Given the description of an element on the screen output the (x, y) to click on. 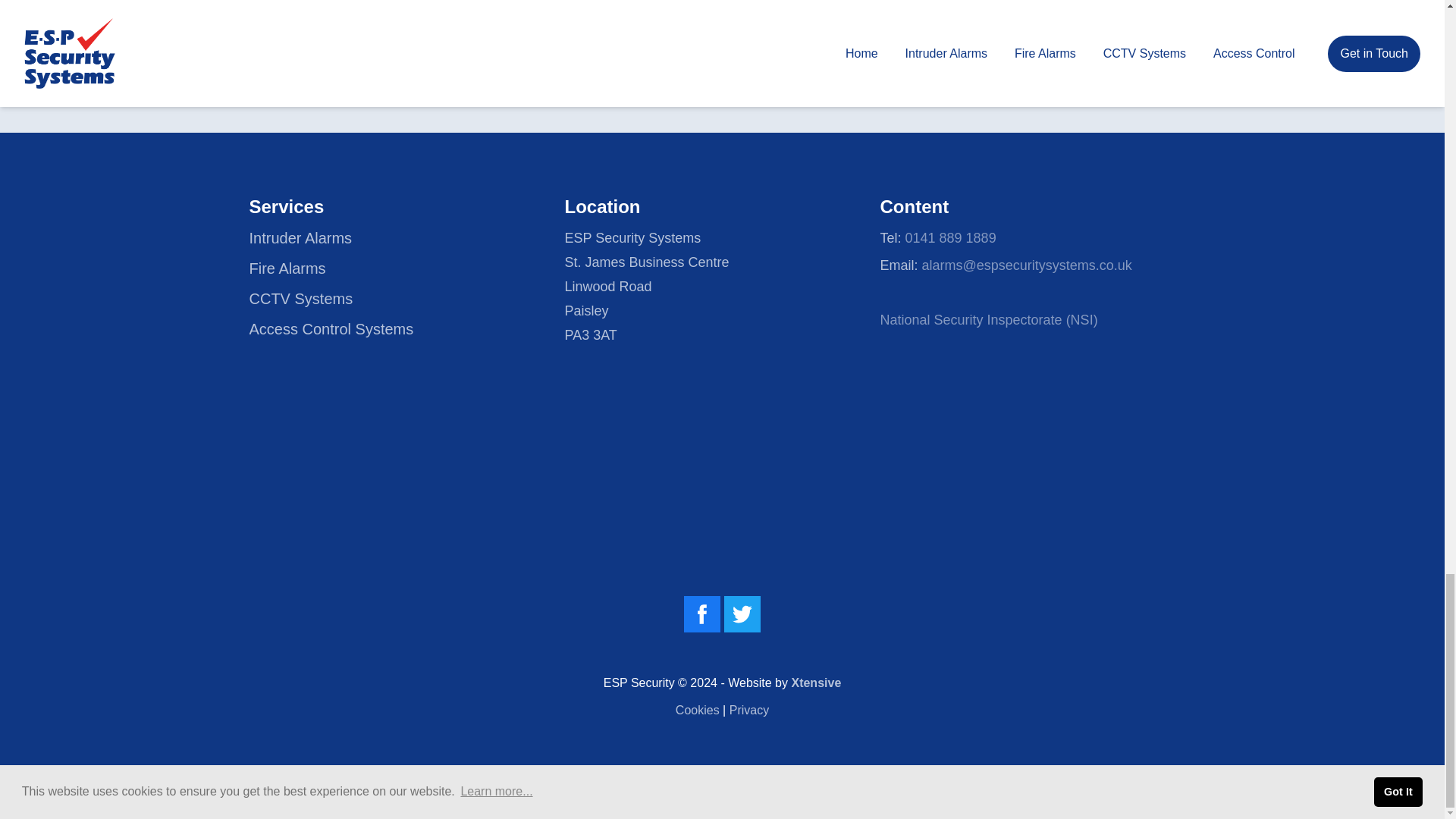
Access Control Systems (330, 329)
Cookies (697, 709)
Get in touch (1067, 78)
Xtensive (815, 682)
Get in touch (1067, 79)
Intruder Alarms (300, 238)
0141 889 1889 (950, 237)
Got It (1398, 792)
Learn more... (496, 791)
Privacy (748, 709)
CCTV Systems (300, 298)
Fire Alarms (286, 268)
